Given the description of an element on the screen output the (x, y) to click on. 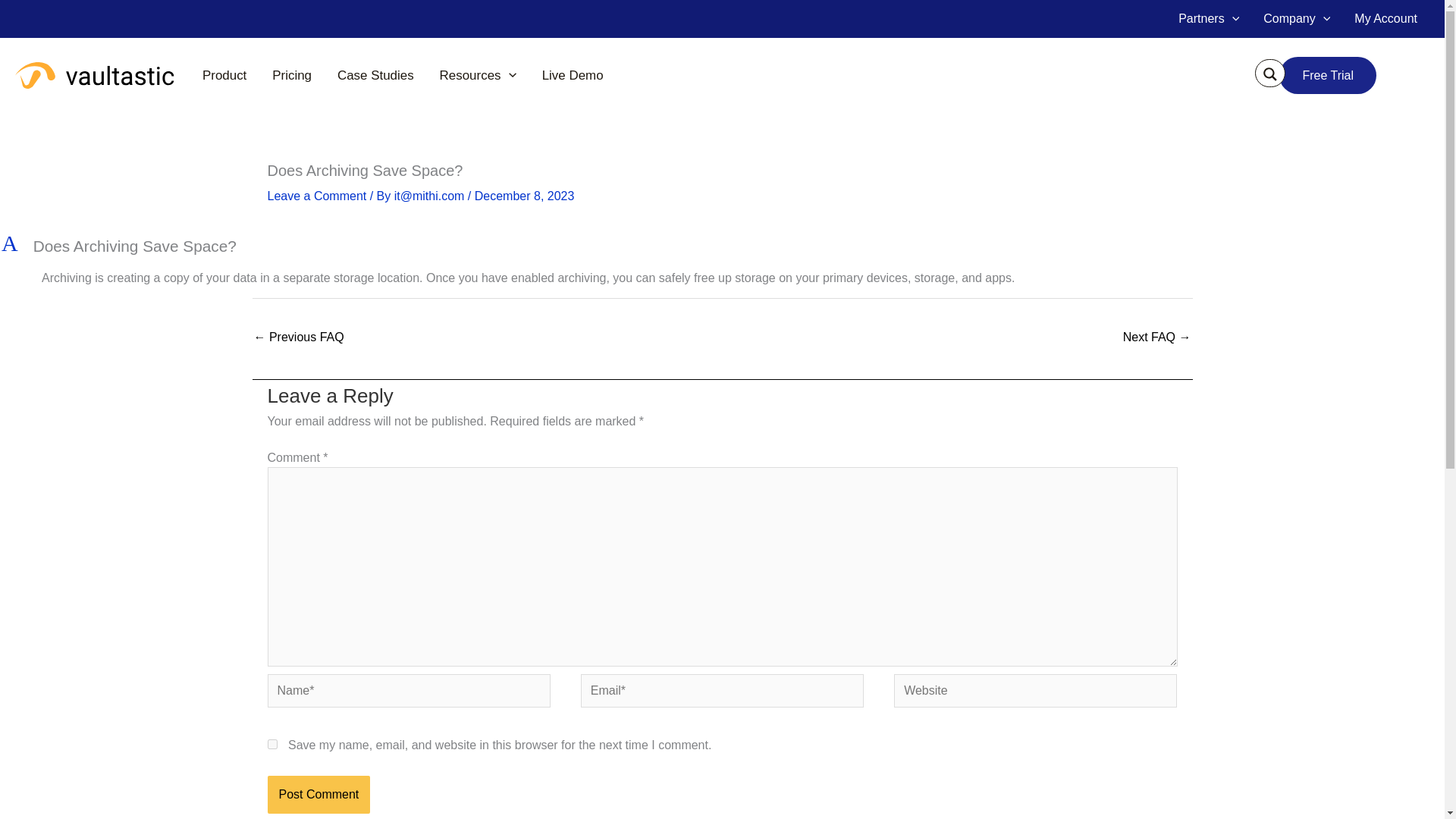
Pricing (291, 75)
Case Studies (375, 75)
Partners (1208, 18)
yes (271, 744)
Free Trial (1346, 75)
Company (1296, 18)
How to achieve a complete Google Docs Archive? (298, 338)
What is File Archiving? (1156, 338)
Post Comment (317, 794)
Product (224, 75)
Resources (477, 75)
Live Demo (572, 75)
My Account (1385, 18)
